Given the description of an element on the screen output the (x, y) to click on. 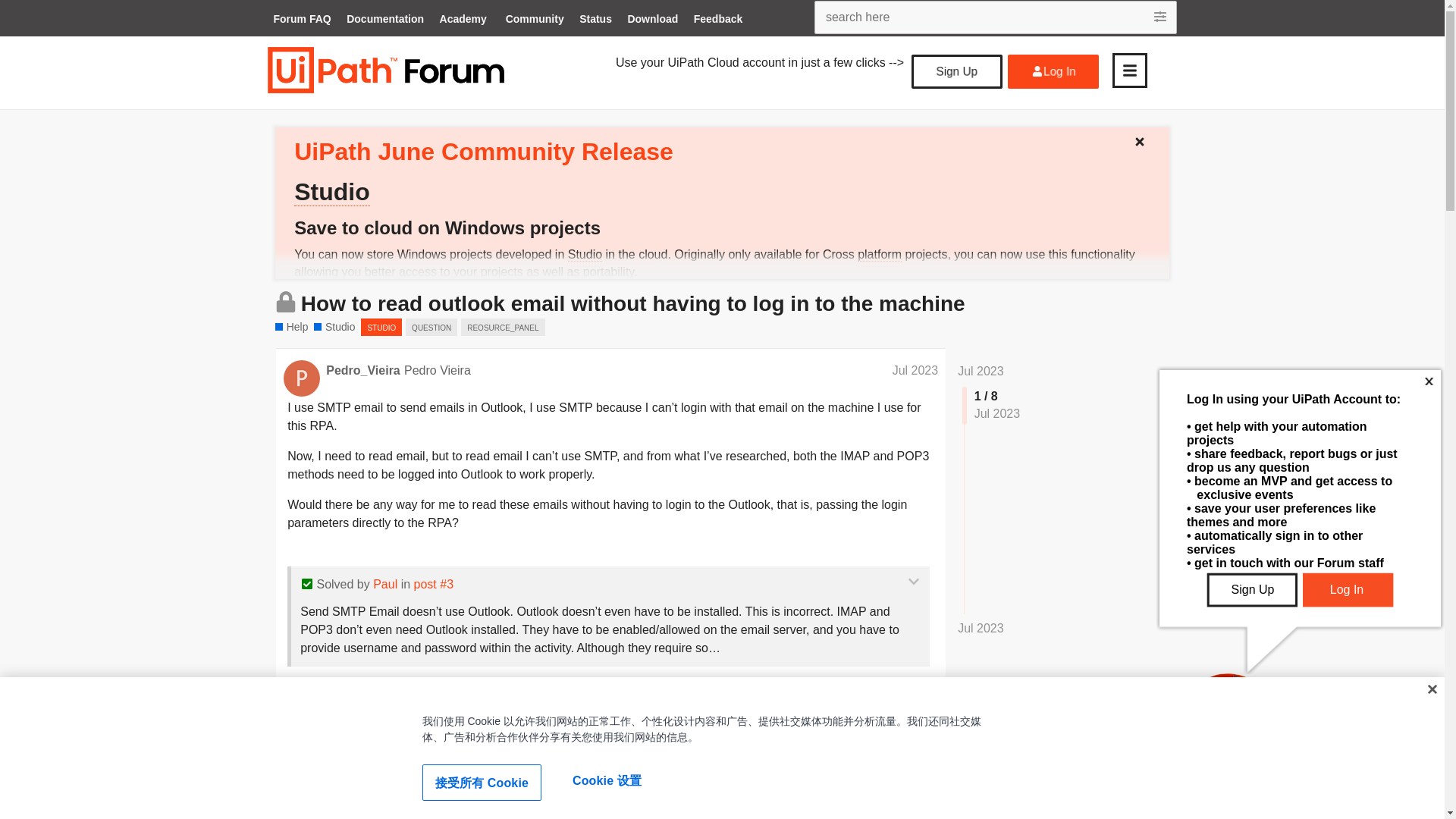
Forum FAQ (301, 20)
Dismiss this banner (1145, 137)
Open advanced search (1161, 17)
Academy (463, 20)
menu (1129, 69)
Documentation (384, 20)
